Given the description of an element on the screen output the (x, y) to click on. 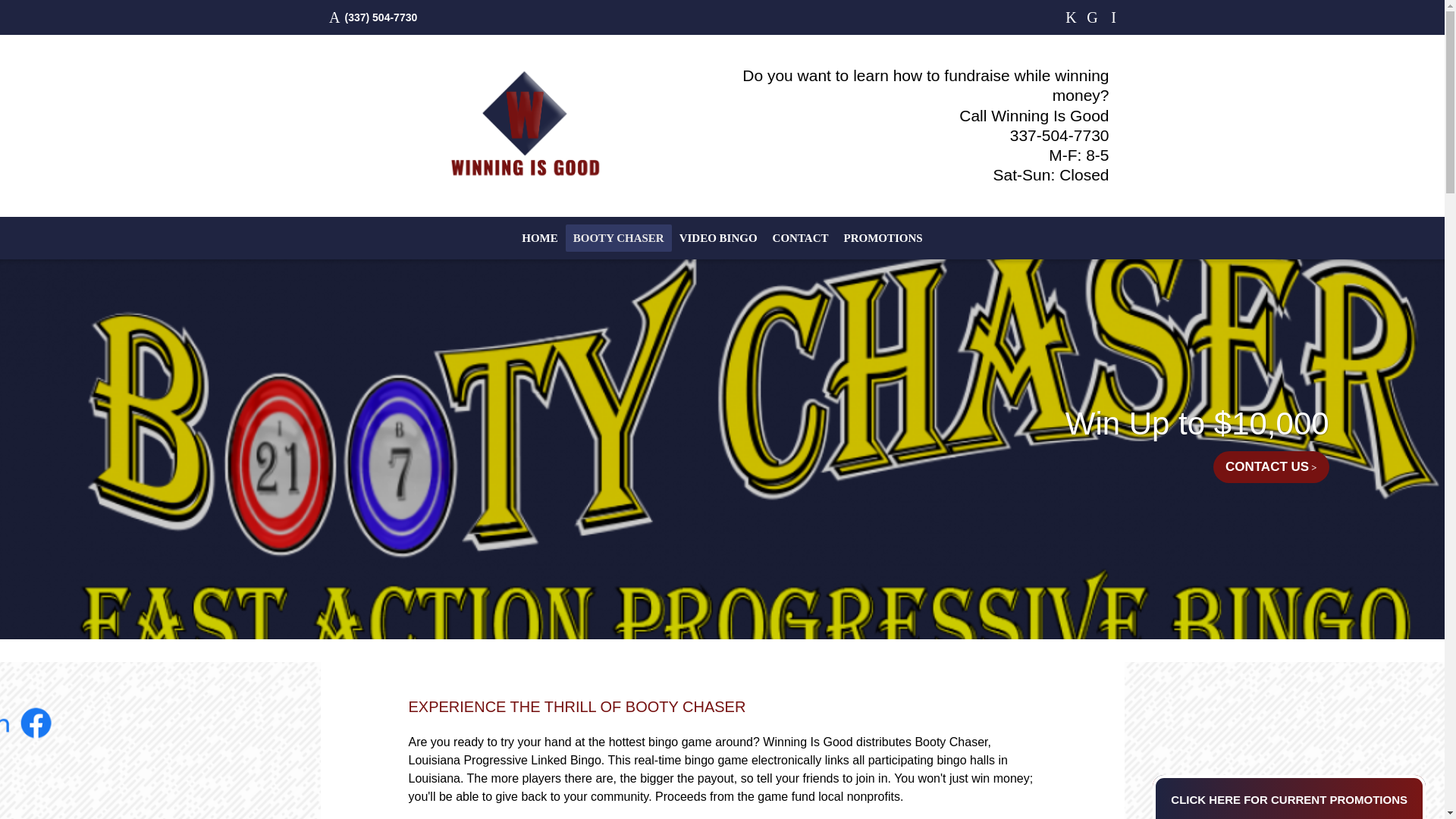
PROMOTIONS (882, 238)
Twitter (1091, 17)
BOOTY CHASER (618, 238)
VIDEO BINGO (718, 238)
HOME (539, 238)
Instagram (1113, 17)
CONTACT US (1270, 467)
CONTACT (800, 238)
Facebook (1070, 17)
